Given the description of an element on the screen output the (x, y) to click on. 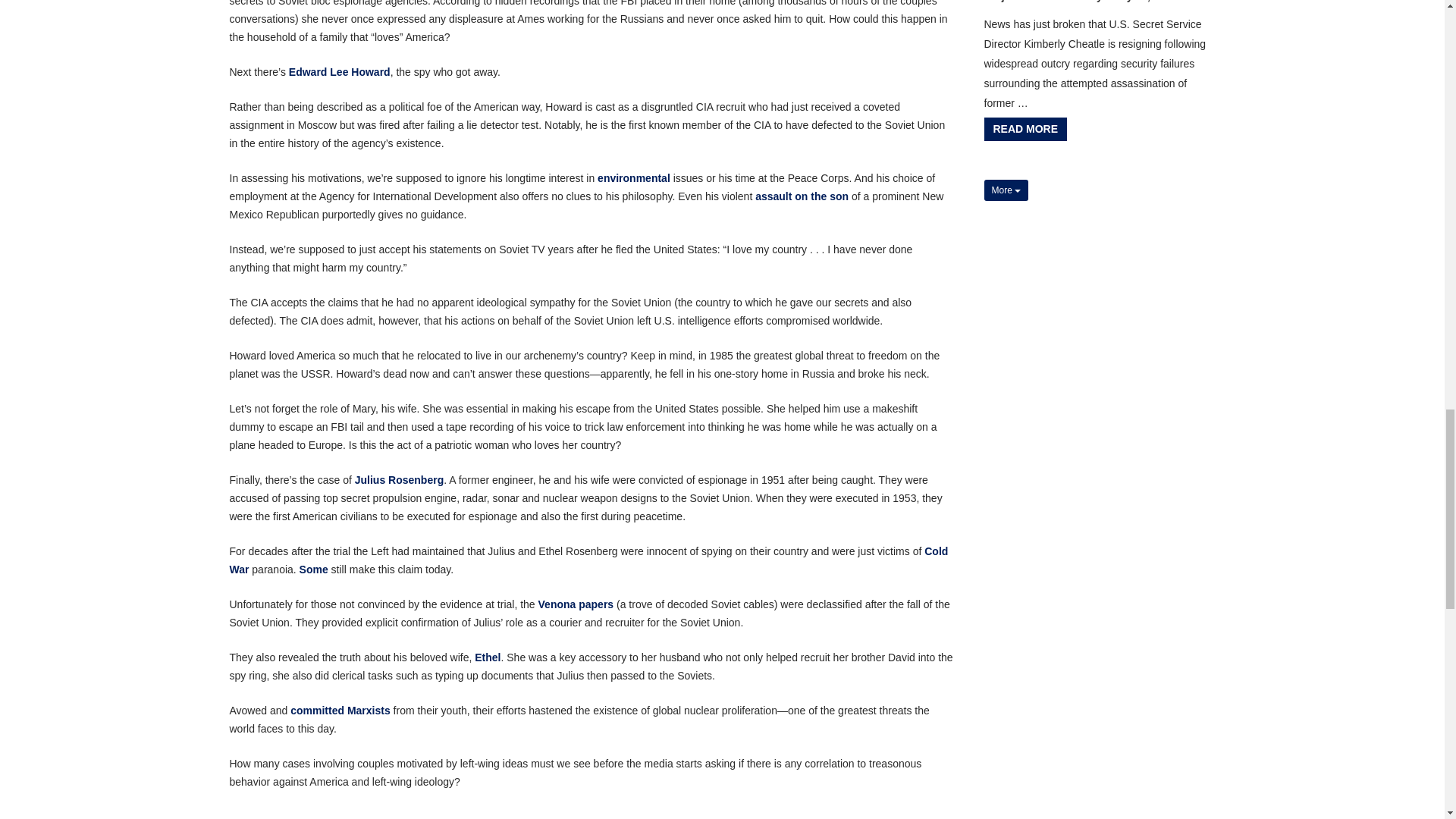
environmental (632, 177)
Edward Lee Howard (339, 71)
Project 21 Commentary (1043, 1)
Julius Rosenberg (399, 480)
assault on the son (801, 196)
Cold War (587, 560)
